Given the description of an element on the screen output the (x, y) to click on. 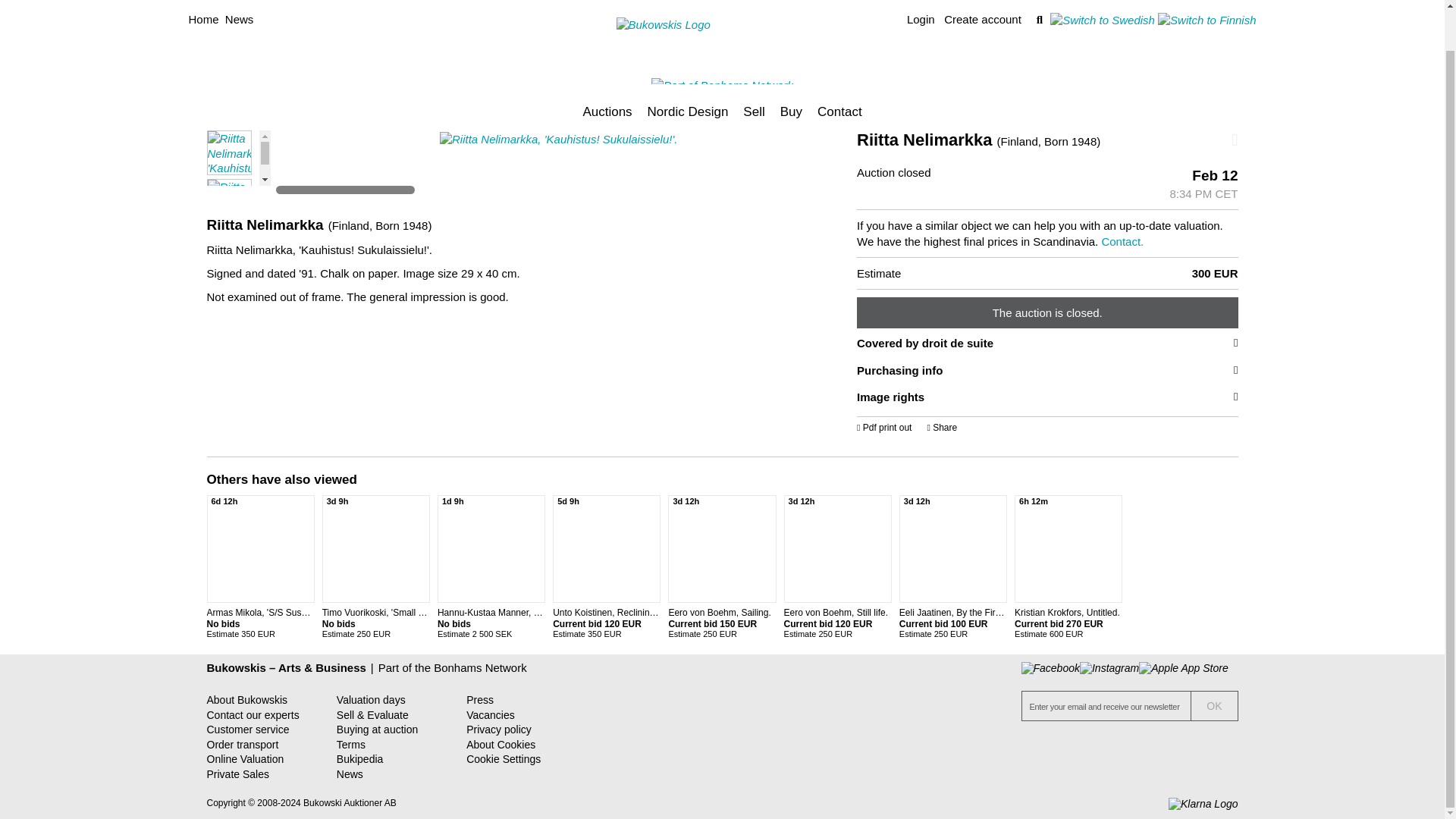
OK (1214, 705)
Add as favorite (1172, 139)
